Given the description of an element on the screen output the (x, y) to click on. 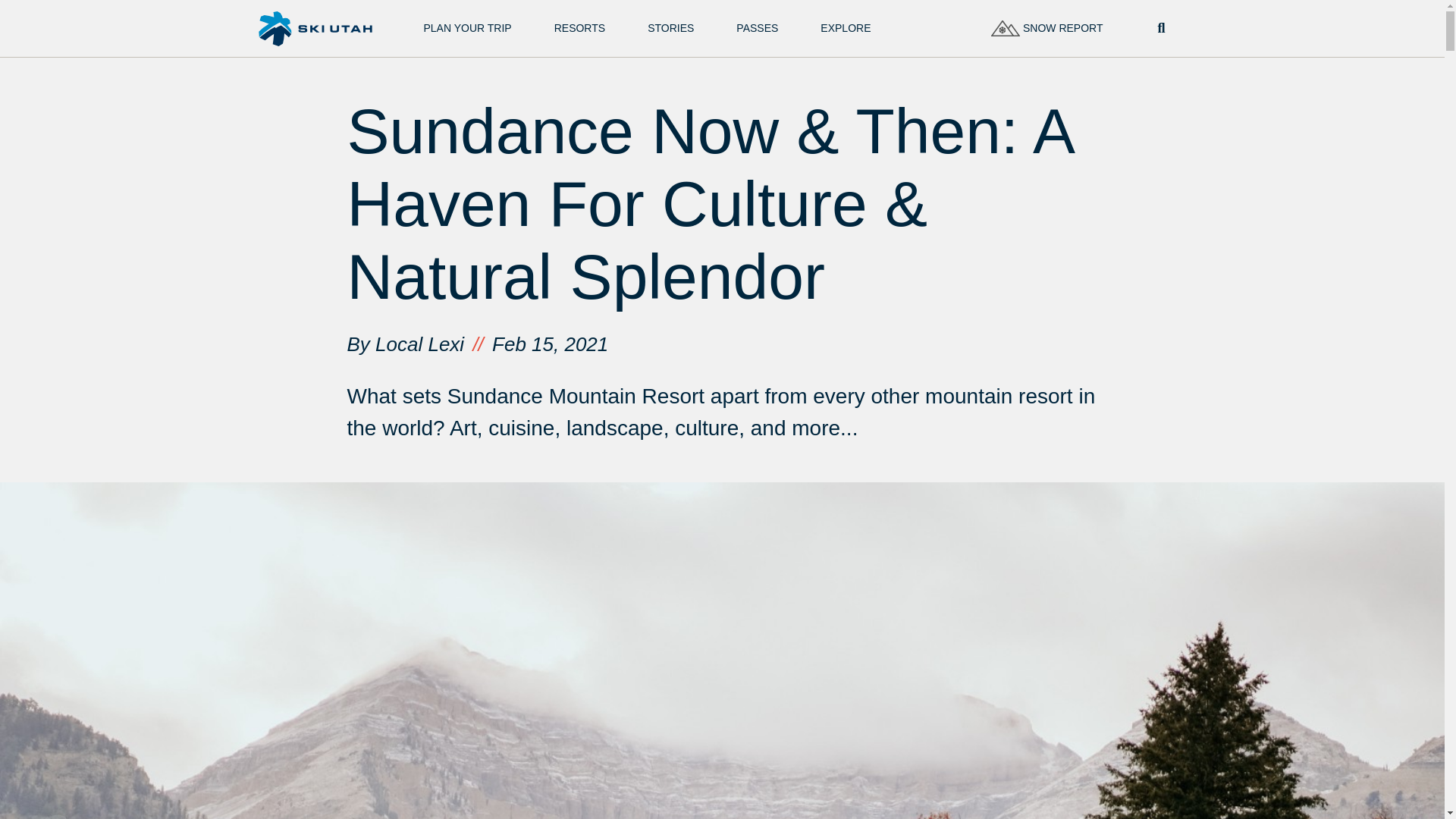
PLAN YOUR TRIP (466, 28)
